Given the description of an element on the screen output the (x, y) to click on. 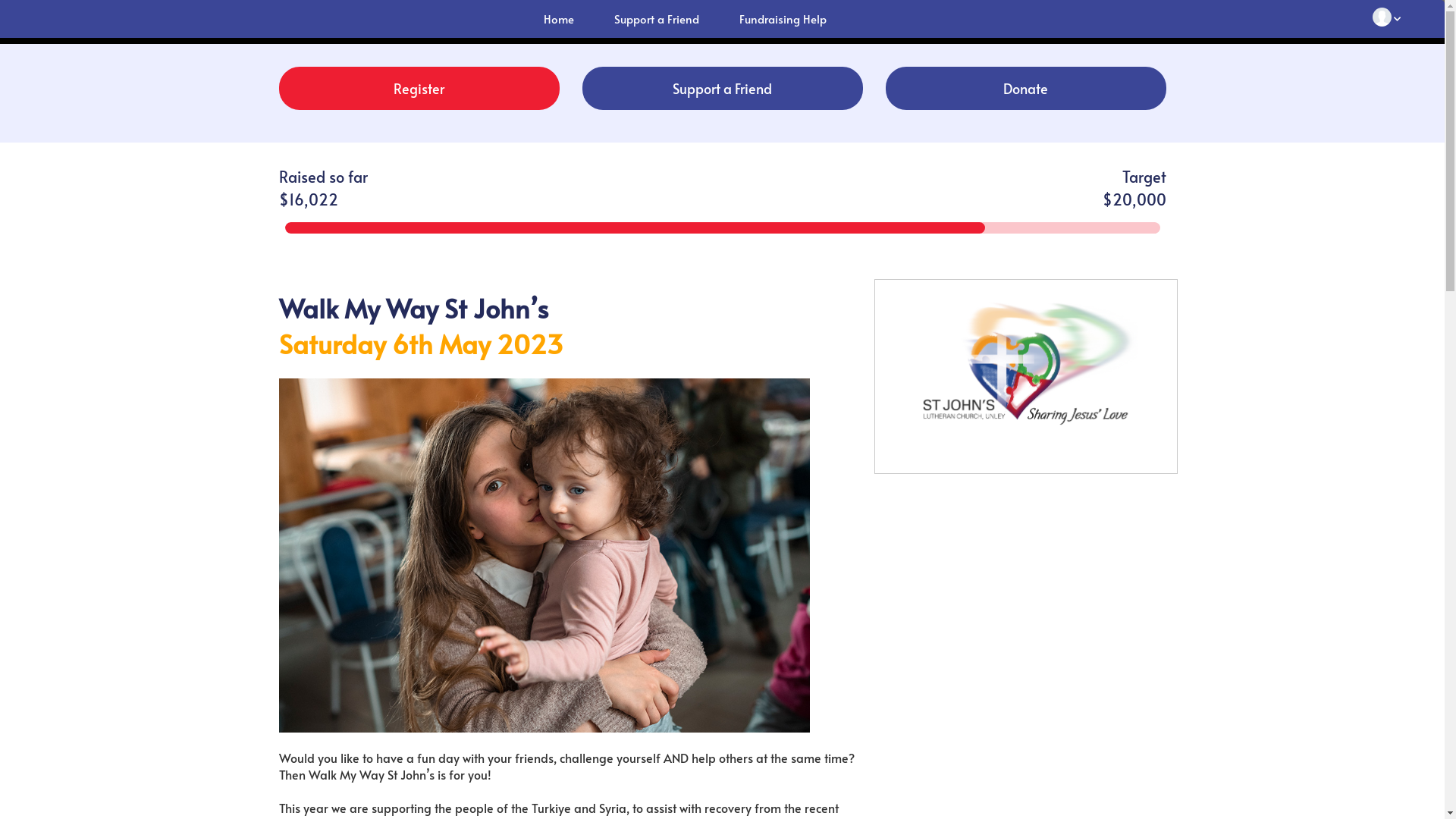
Register Element type: text (419, 87)
Support a Friend Element type: text (722, 87)
Donate Element type: text (1025, 87)
Home Element type: text (556, 19)
Fundraising Help Element type: text (781, 19)
Support a Friend Element type: text (655, 19)
